Given the description of an element on the screen output the (x, y) to click on. 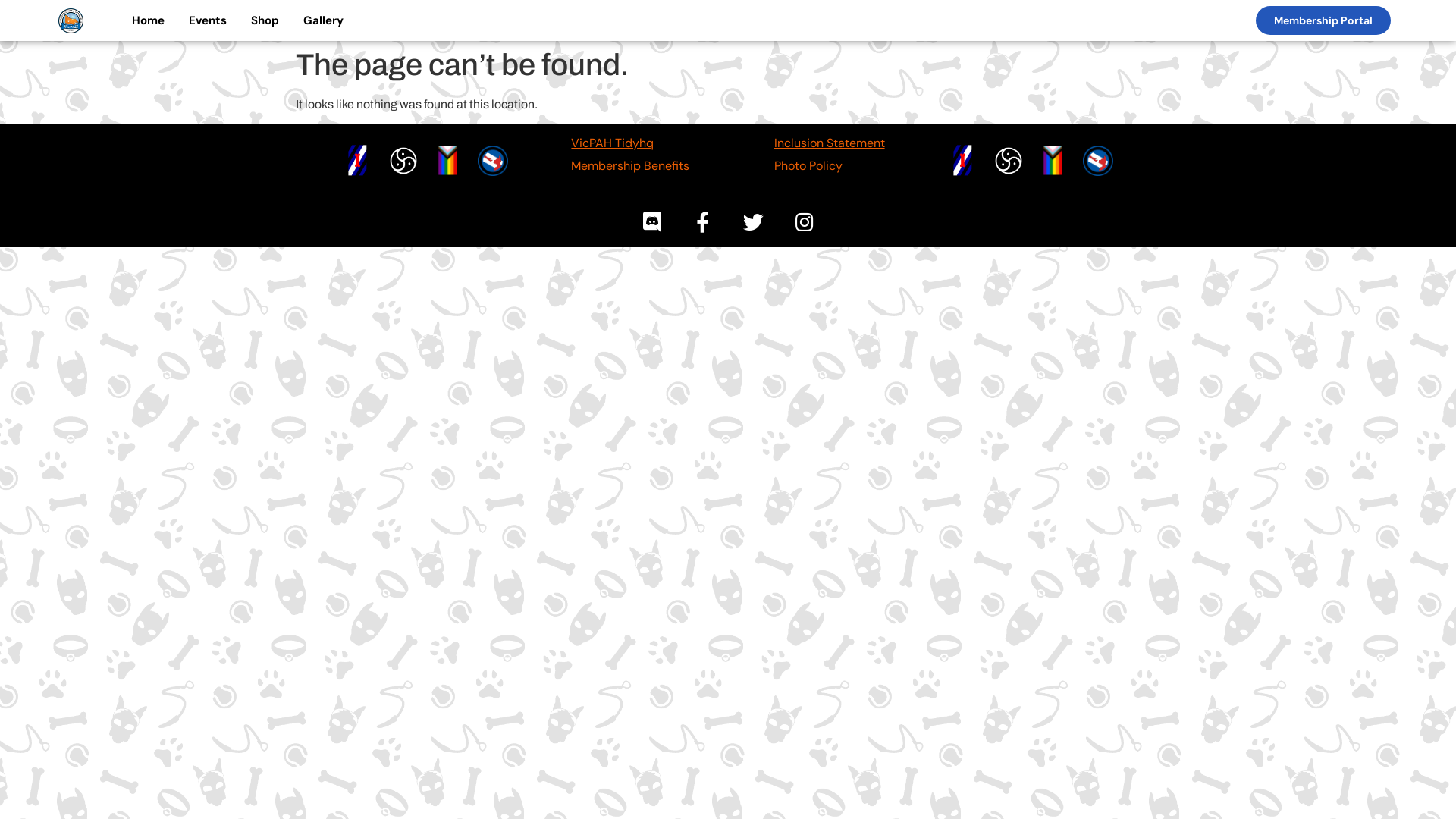
Membership Portal Element type: text (1322, 20)
aphc-blank Element type: hover (1097, 160)
VicPAH Tidyhq Element type: text (612, 142)
Inclusion Statement Element type: text (829, 142)
Shop Element type: text (265, 20)
Home Element type: text (147, 20)
1200px-BDSM_logo.svg Element type: hover (1008, 160)
aphc-blank Element type: hover (492, 160)
Events Element type: text (207, 20)
Gallery Element type: text (323, 20)
Photo Policy Element type: text (808, 165)
LGBTQ+_rainbow_flag_Quasar__Progress__variant.svg Element type: hover (453, 155)
1200px-BDSM_logo.svg Element type: hover (403, 160)
LGBTQ+_rainbow_flag_Quasar__Progress__variant.svg Element type: hover (1058, 155)
Membership Benefits Element type: text (630, 165)
